Given the description of an element on the screen output the (x, y) to click on. 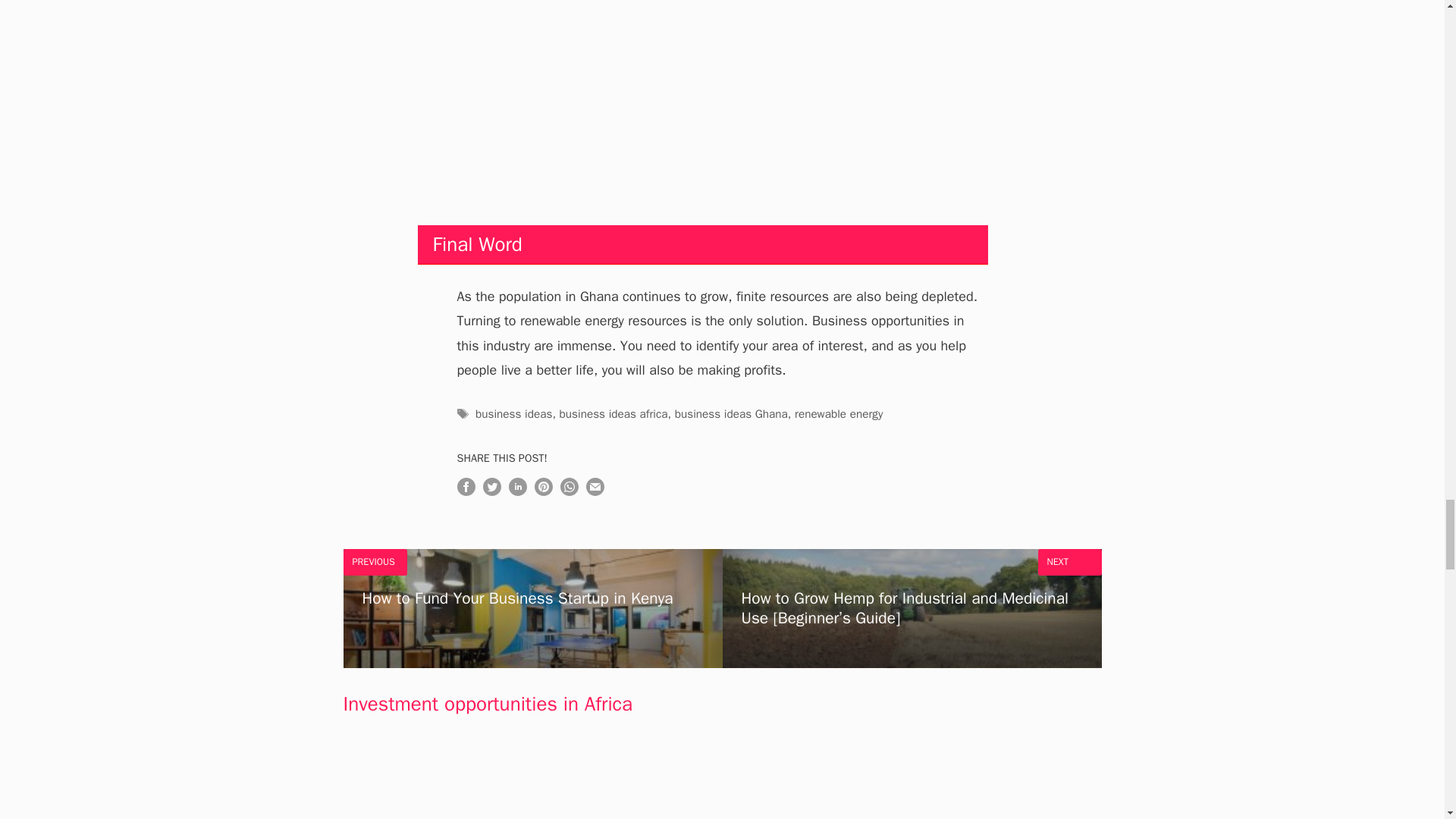
Share this post! (568, 491)
business ideas Ghana (731, 413)
Tweet this post! (490, 491)
business ideas (513, 413)
Pin this post! (542, 491)
renewable energy (838, 413)
Share this post! (516, 491)
Investment opportunities in Africa (486, 703)
business ideas africa (532, 607)
Email this post! (613, 413)
Share this post! (594, 491)
